Given the description of an element on the screen output the (x, y) to click on. 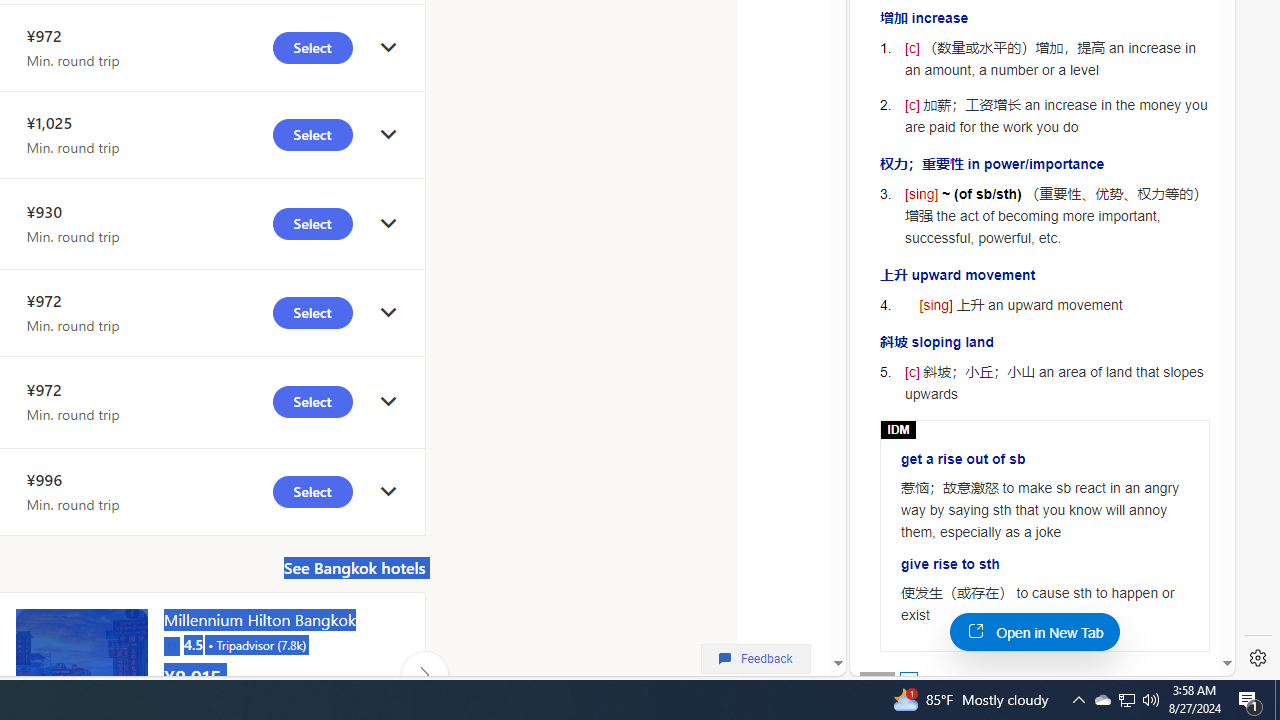
AutomationID: posbtn_1 (908, 680)
Click to scroll right (424, 674)
Tripadvisor (171, 644)
click to get details (388, 491)
